Given the description of an element on the screen output the (x, y) to click on. 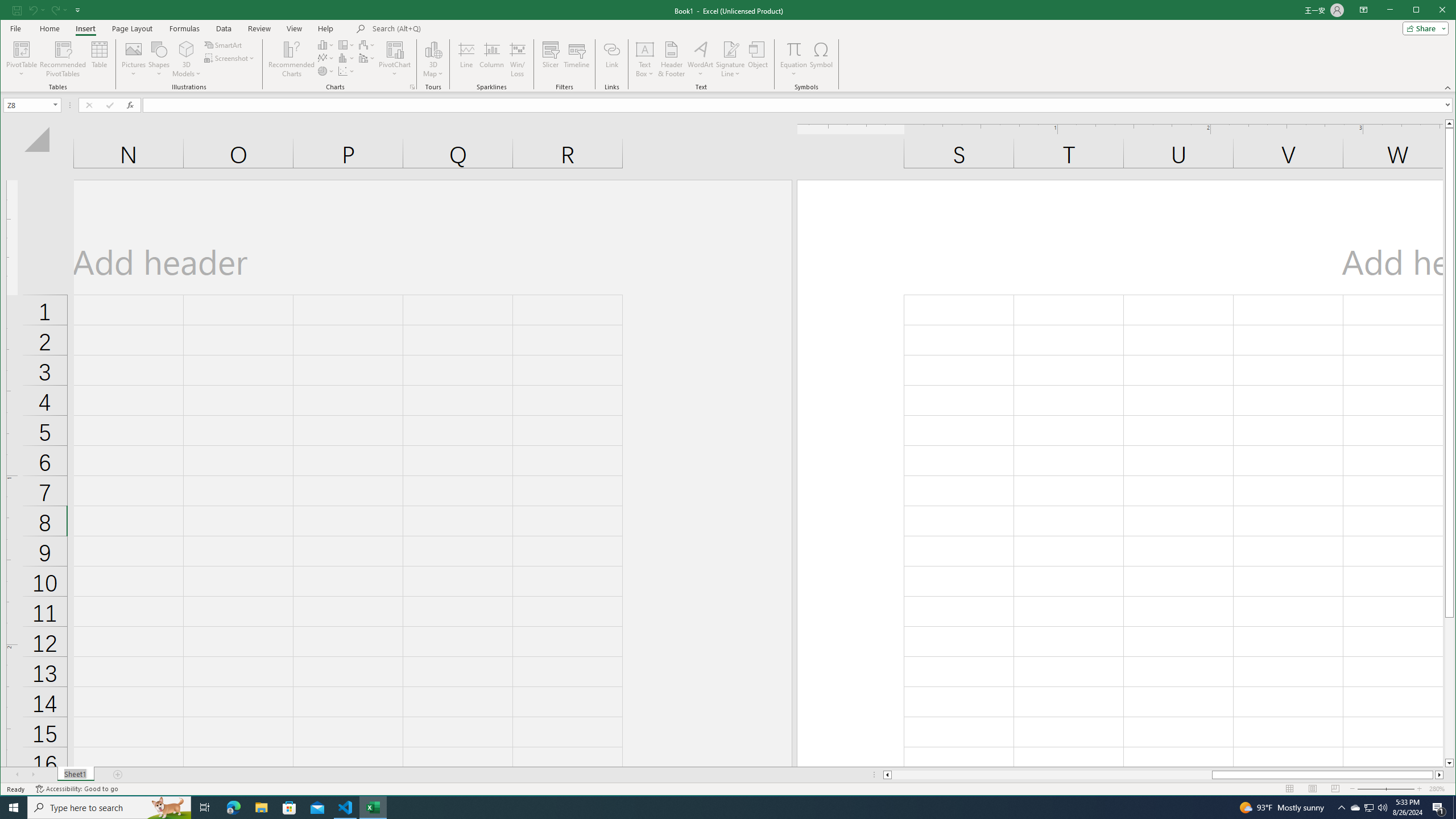
Visual Studio Code - 1 running window (345, 807)
PivotTable (22, 48)
Equation (793, 59)
Maximize (1432, 11)
3D Map (432, 48)
